Given the description of an element on the screen output the (x, y) to click on. 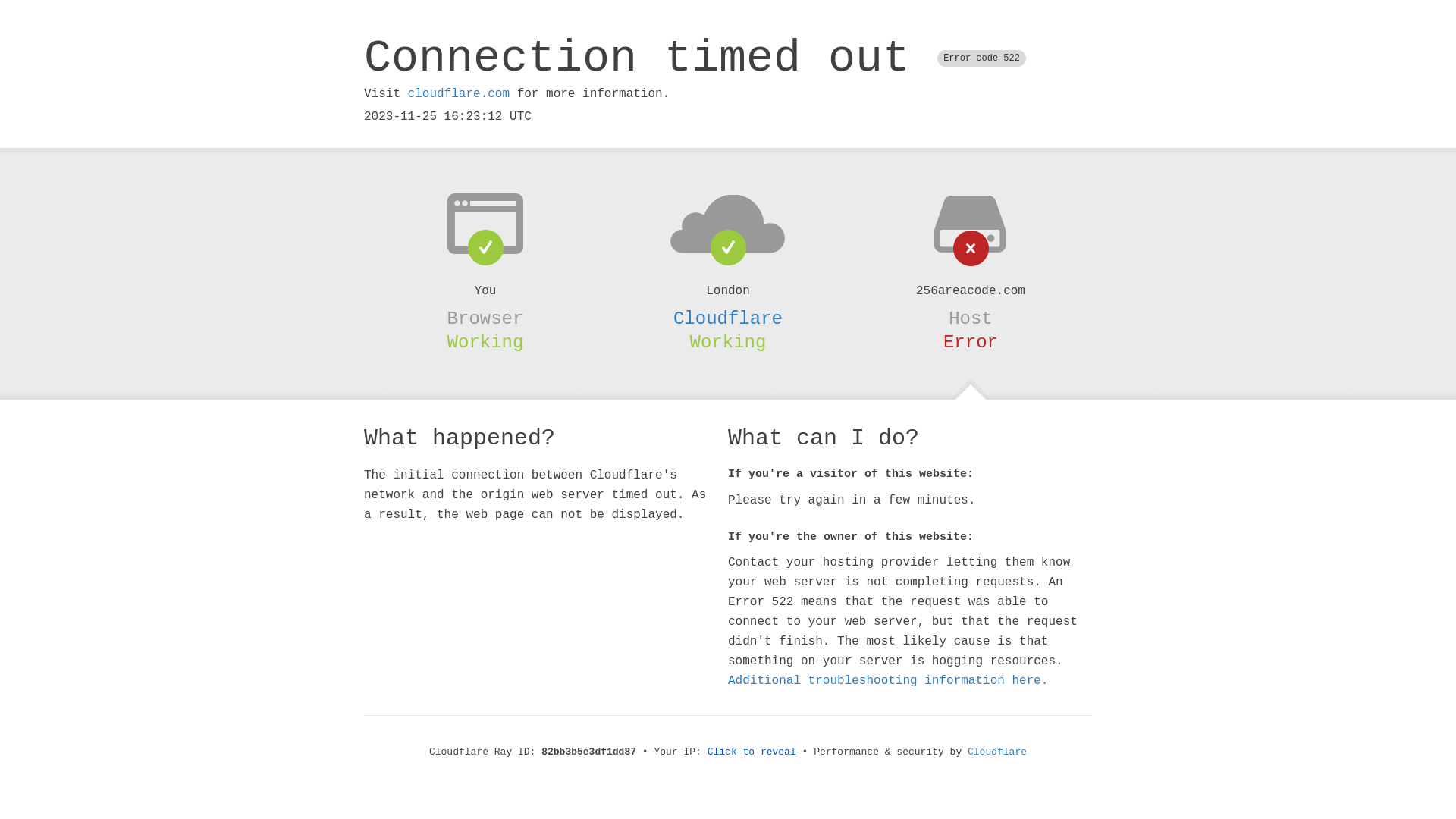
Additional troubleshooting information here. Element type: text (888, 680)
cloudflare.com Element type: text (458, 93)
Click to reveal Element type: text (751, 751)
Cloudflare Element type: text (996, 751)
Cloudflare Element type: text (727, 318)
